Given the description of an element on the screen output the (x, y) to click on. 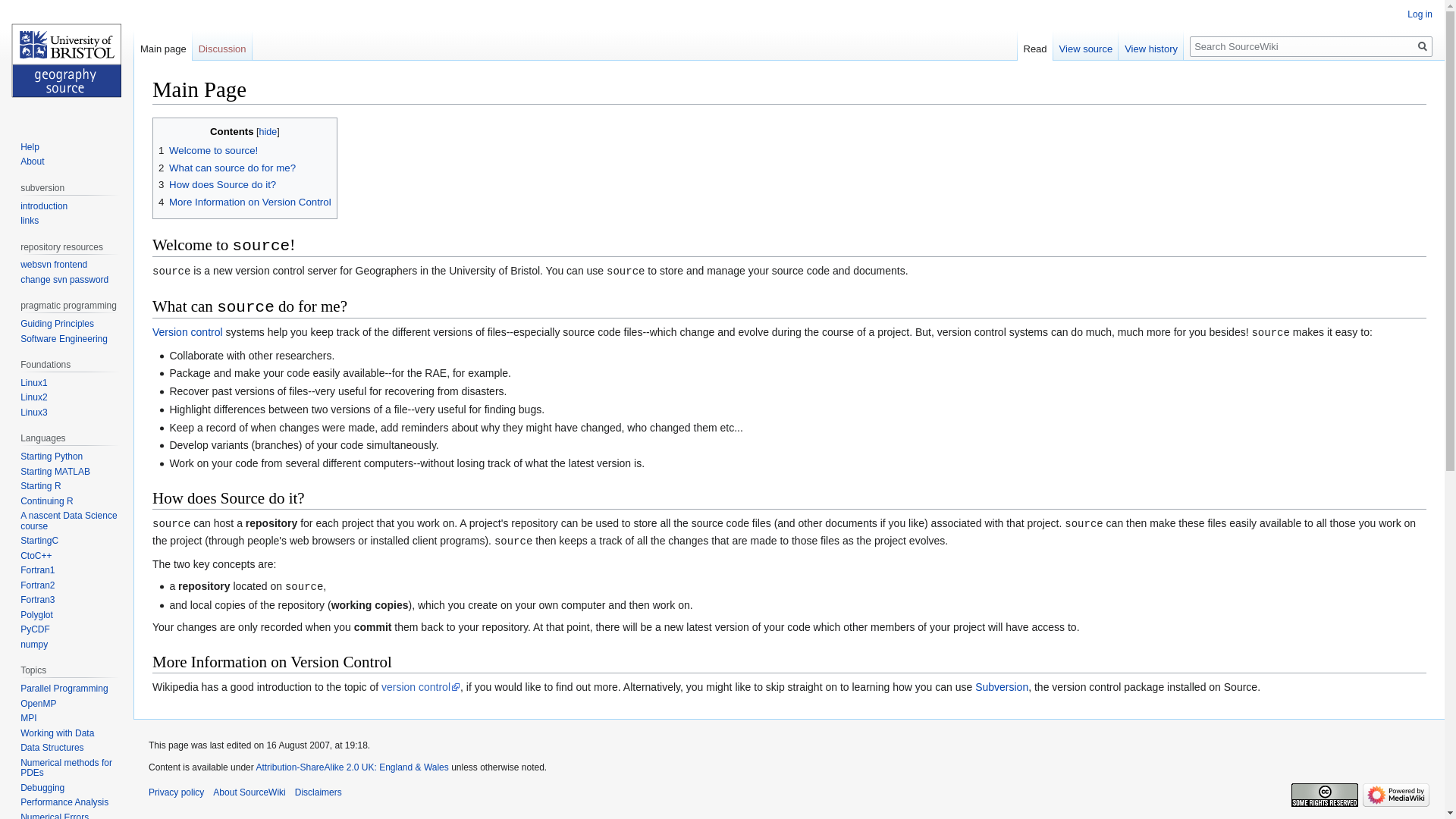
Version control (187, 331)
Log in (1419, 14)
Main page (162, 45)
Continuing R (46, 501)
websvn frontend (53, 264)
Help (29, 146)
Version control (187, 331)
Search the pages for this text (1422, 46)
Guiding Principles (57, 323)
4 More Information on Version Control (244, 202)
